Given the description of an element on the screen output the (x, y) to click on. 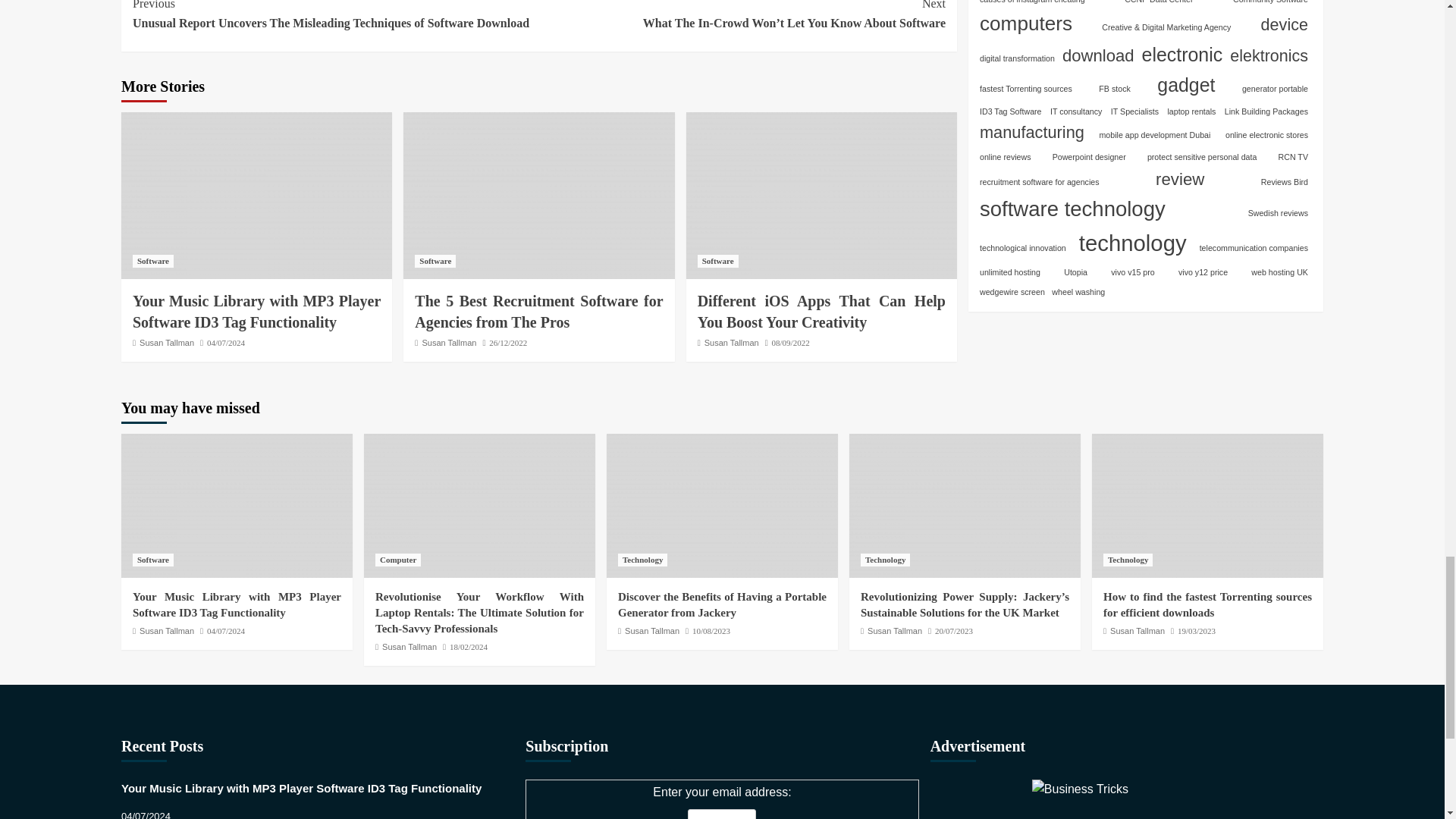
Susan Tallman (449, 342)
The 5 Best Recruitment Software for Agencies from The Pros (538, 311)
Different iOS Apps That Can Help You Boost Your Creativity (820, 195)
Software (152, 260)
The 5 Best Recruitment Software for Agencies from The Pros (538, 195)
Susan Tallman (166, 342)
Software (434, 260)
Software (717, 260)
